Given the description of an element on the screen output the (x, y) to click on. 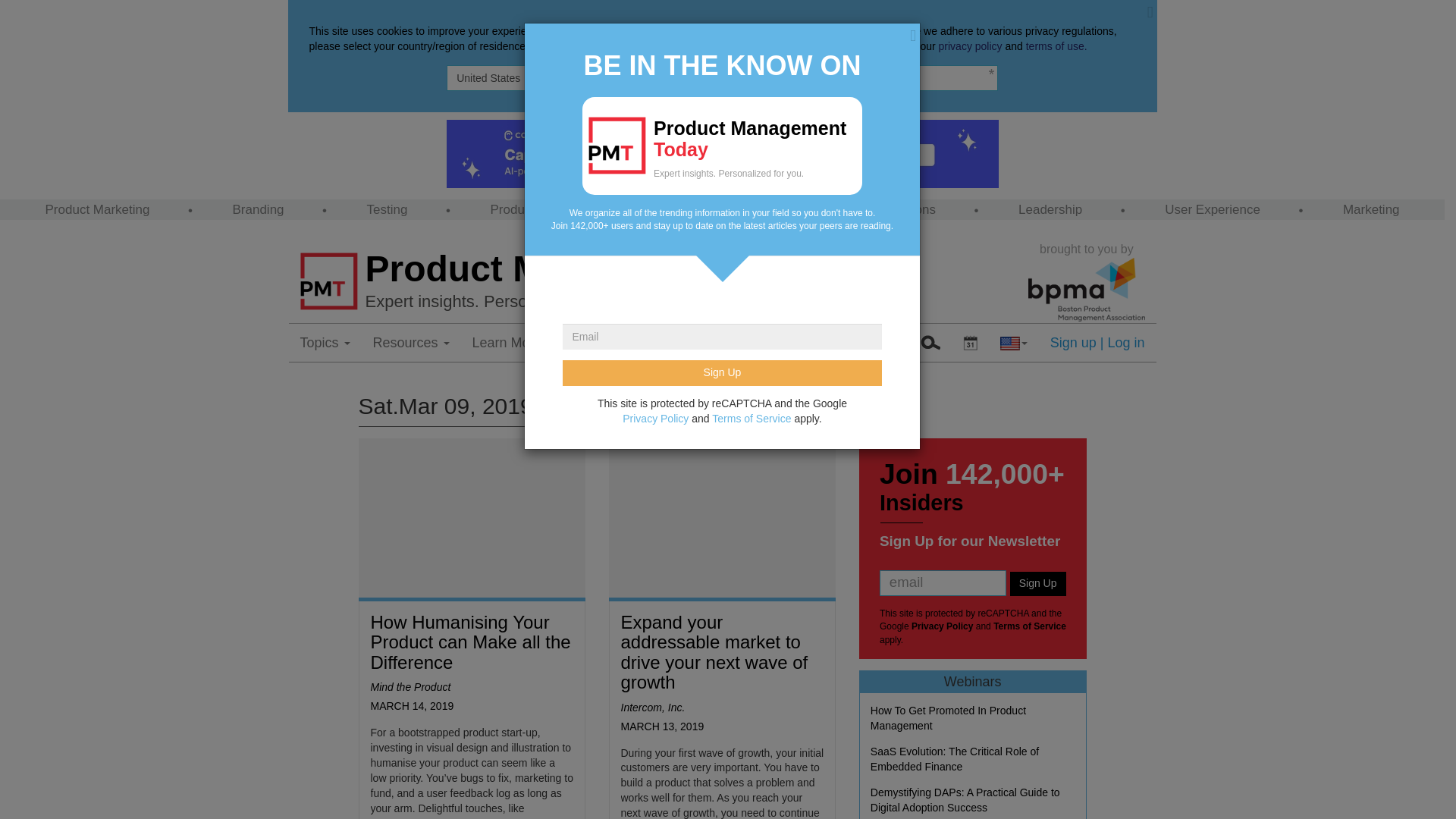
Testing (386, 209)
terms of use. (1056, 46)
Share this (876, 342)
United States (721, 77)
Product Marketing (97, 209)
Customer Communications (858, 209)
Agile (682, 209)
Branding (257, 209)
User Experience (1212, 209)
Product Marketing (97, 209)
Boston Product Management Association (1085, 289)
Testing (386, 209)
Select edition (970, 342)
Agile (682, 209)
Branding (257, 209)
